Given the description of an element on the screen output the (x, y) to click on. 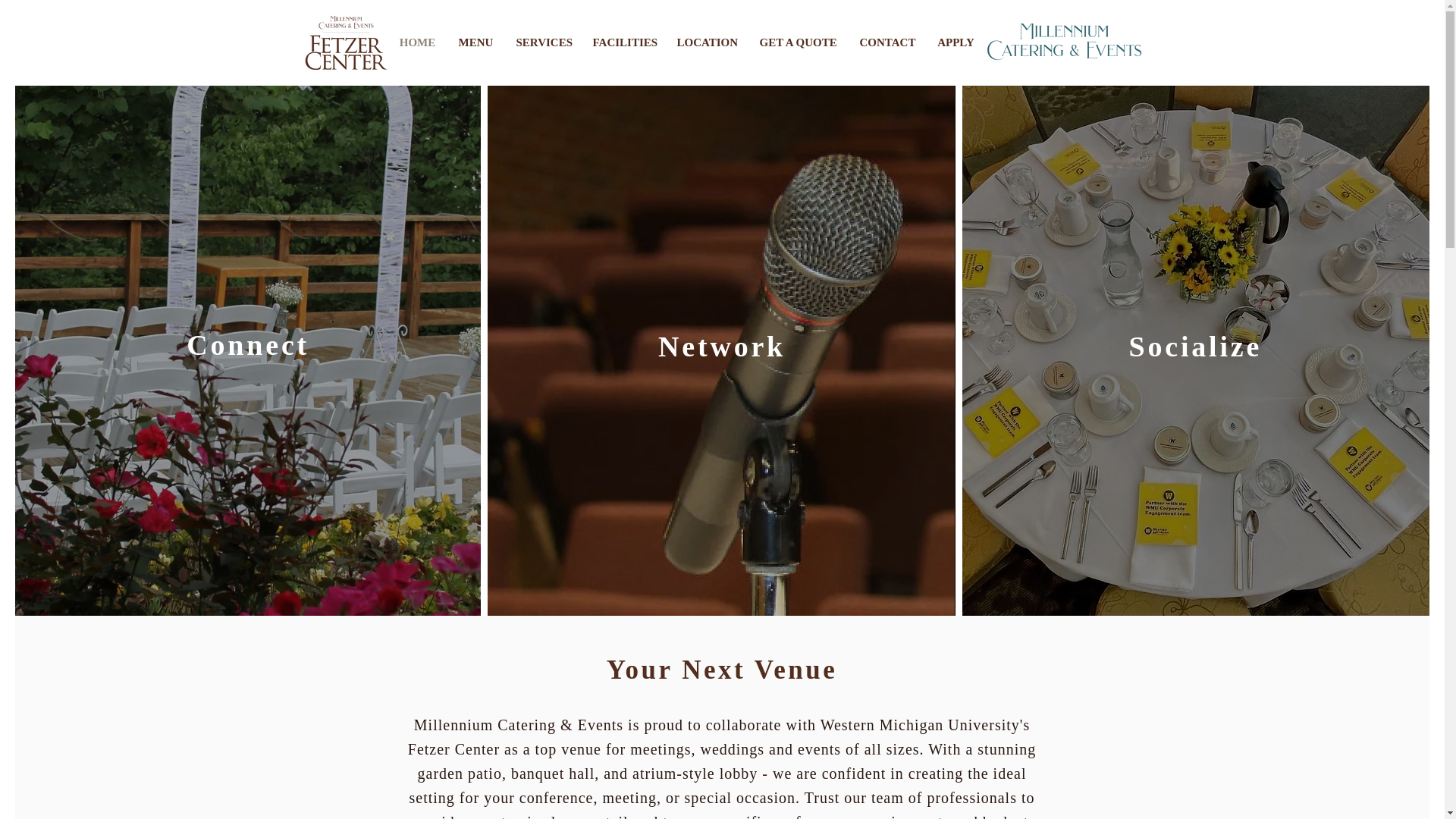
HOME (417, 42)
GET A QUOTE (797, 42)
MENU (475, 42)
CONTACT (885, 42)
SERVICES (542, 42)
APPLY (954, 42)
